Given the description of an element on the screen output the (x, y) to click on. 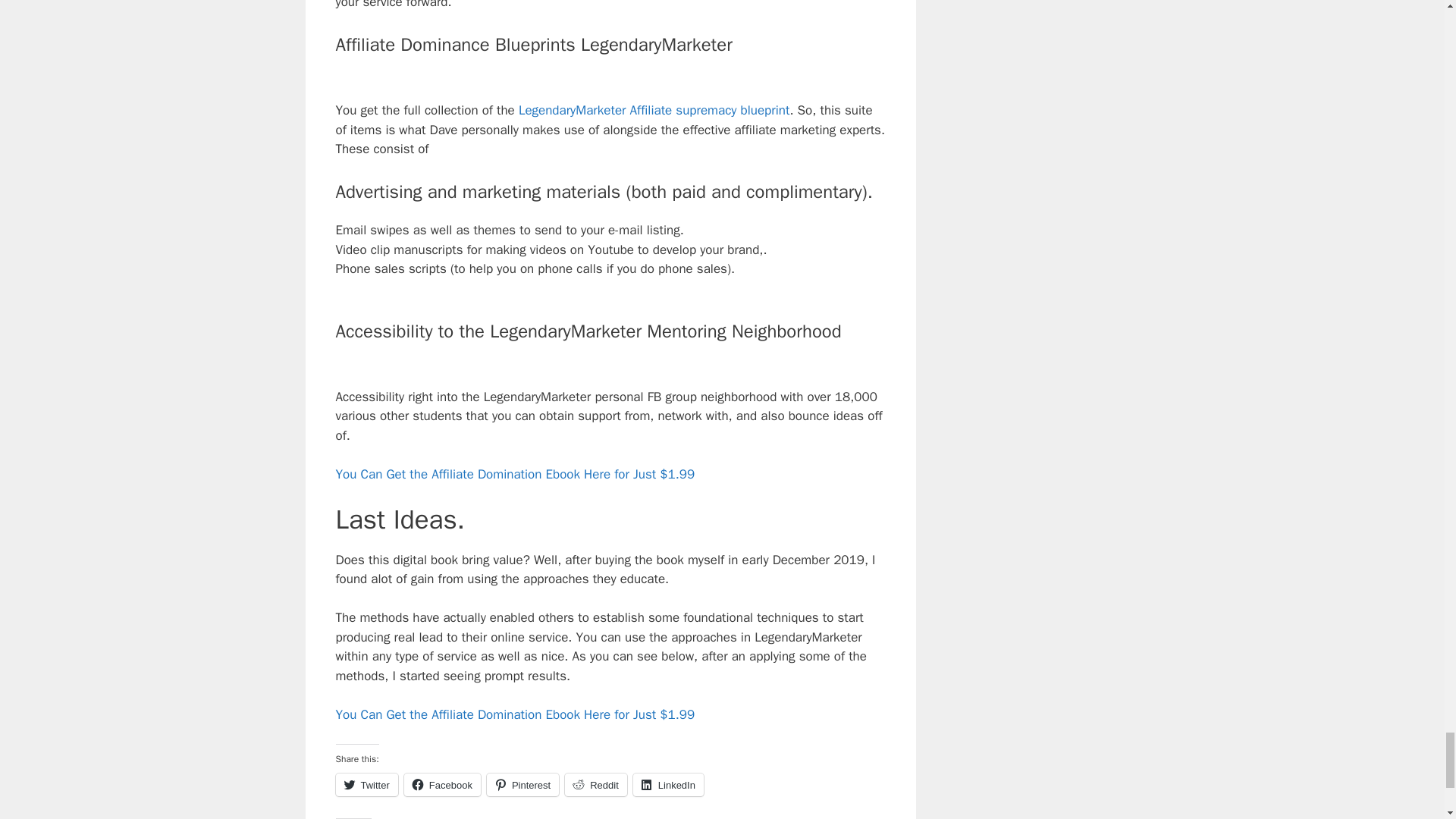
Click to share on Pinterest (522, 784)
Click to share on Facebook (442, 784)
Click to share on LinkedIn (668, 784)
Click to share on Reddit (595, 784)
Click to share on Twitter (365, 784)
